Given the description of an element on the screen output the (x, y) to click on. 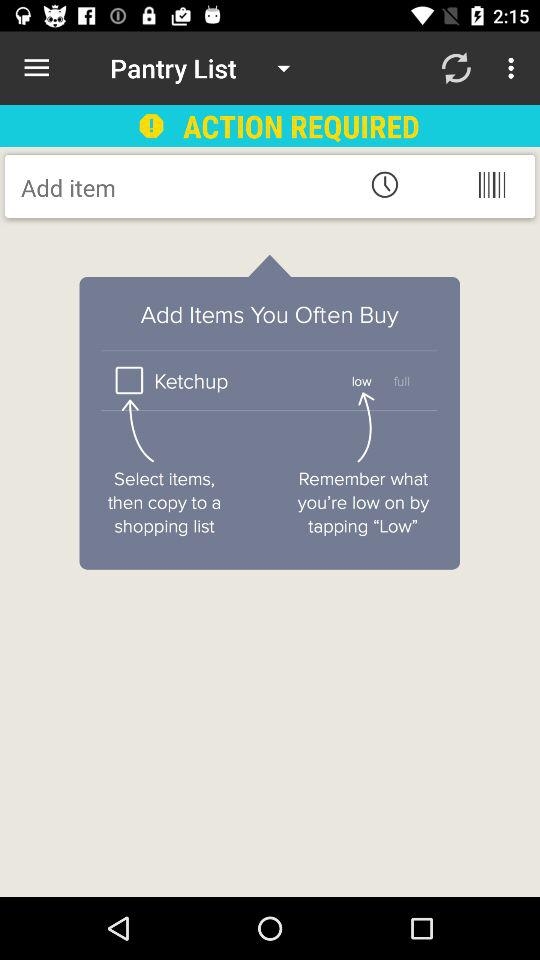
paarcode simple page (491, 184)
